Given the description of an element on the screen output the (x, y) to click on. 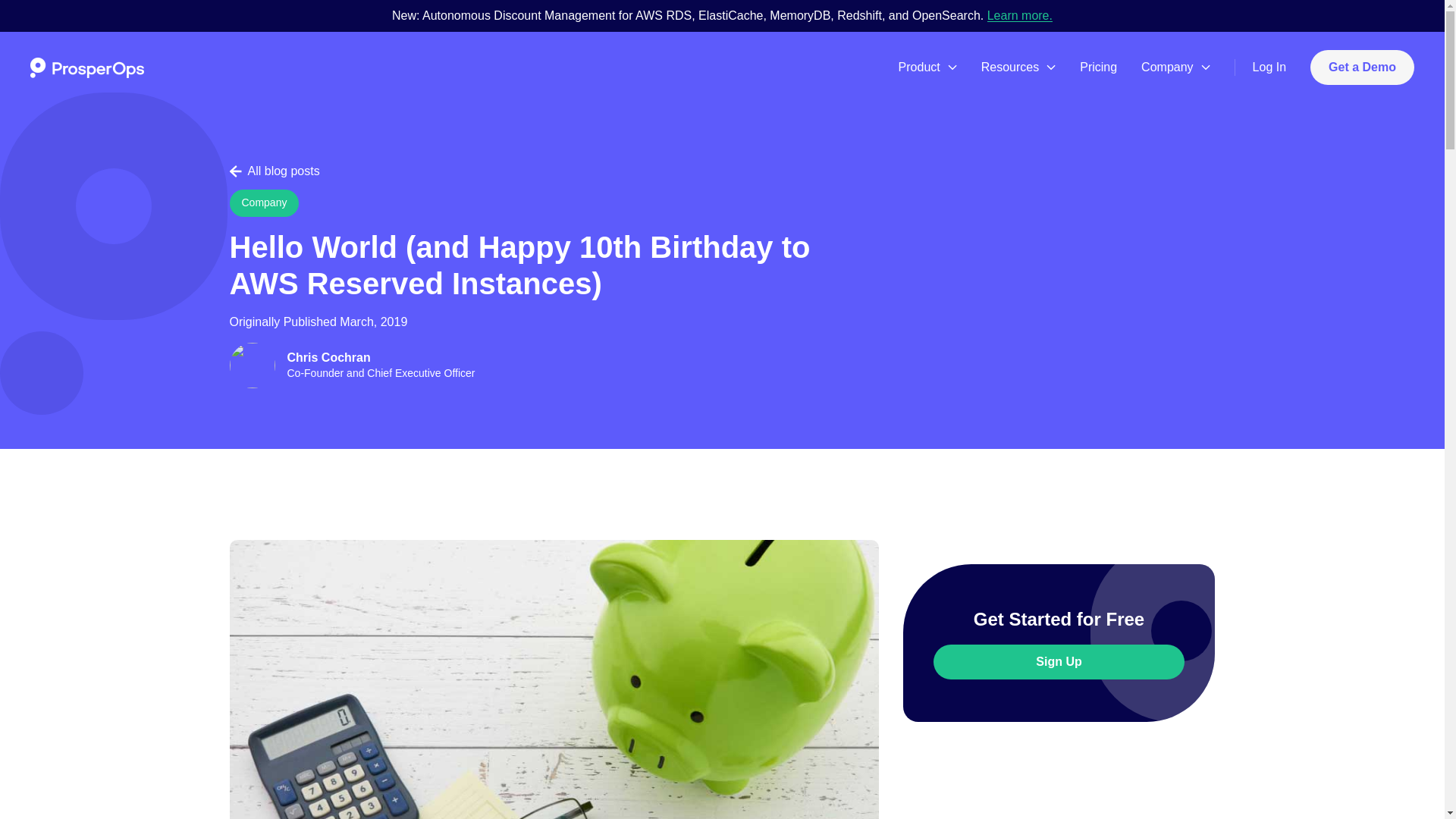
Get a Demo (1361, 67)
Resources (1018, 67)
Pricing (1098, 67)
All blog posts (273, 171)
Learn more. (1019, 15)
Company (1175, 67)
Product (927, 67)
Log In (1268, 67)
